Given the description of an element on the screen output the (x, y) to click on. 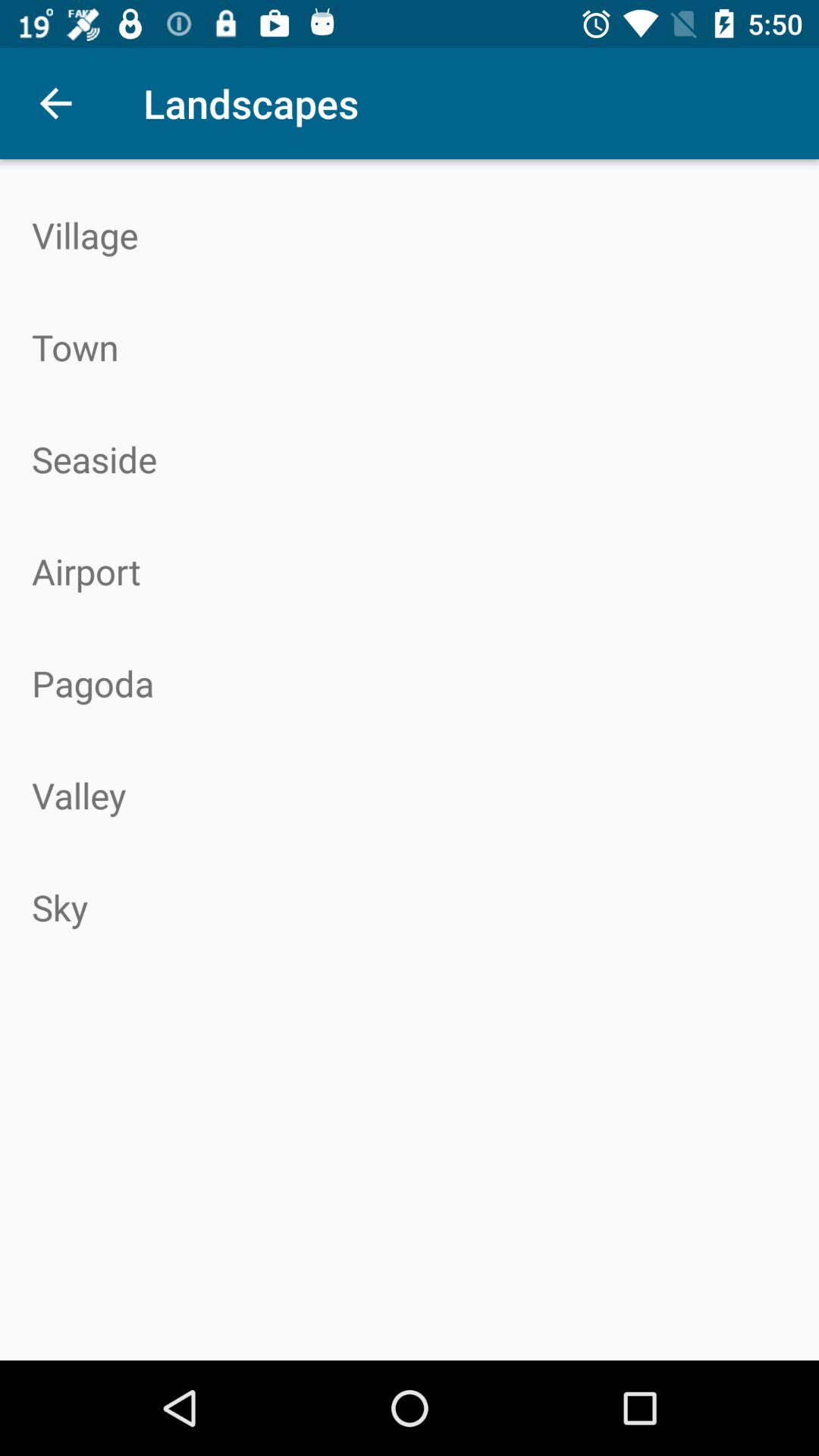
press seaside icon (409, 459)
